Given the description of an element on the screen output the (x, y) to click on. 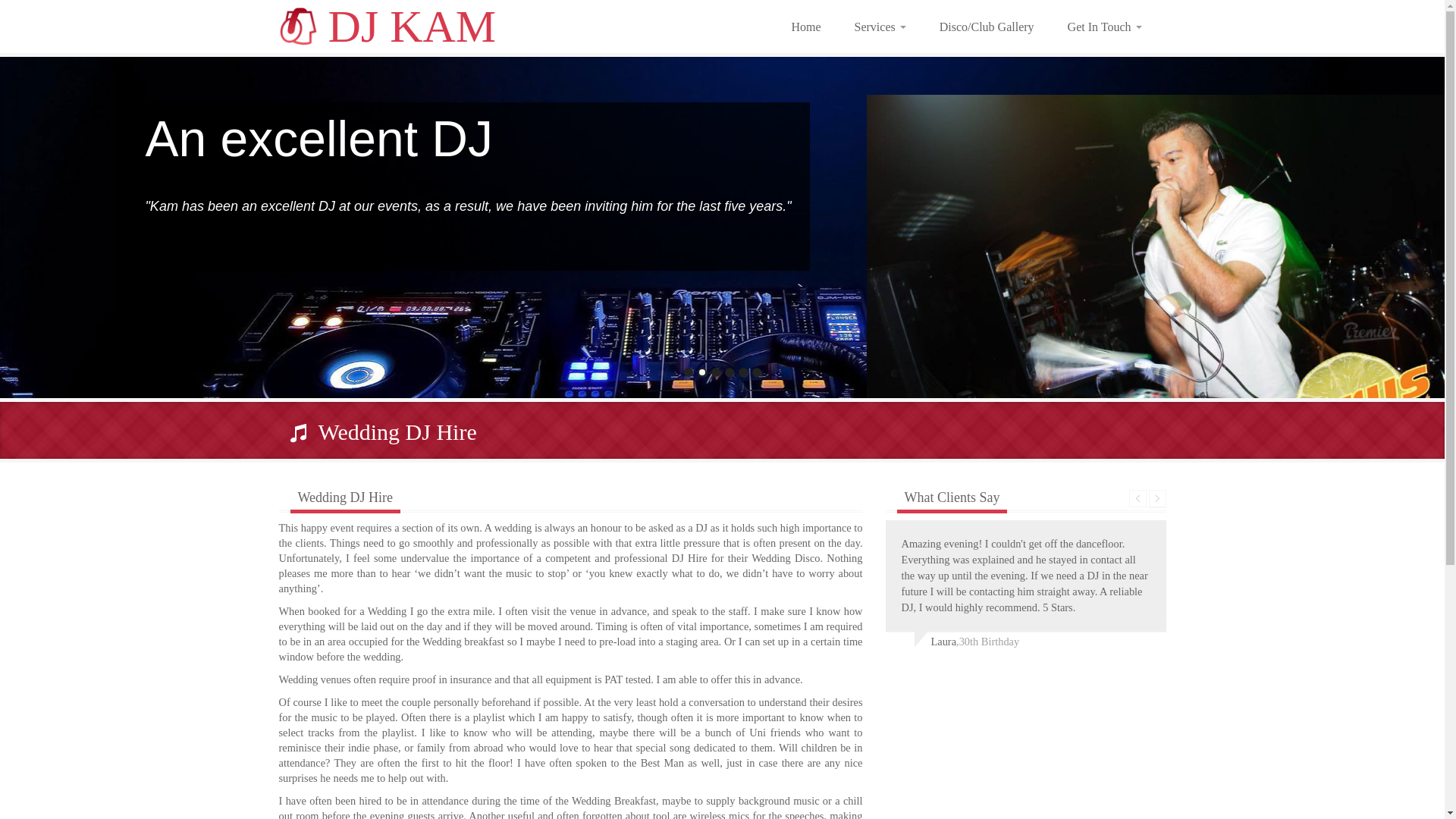
DJ KAM (389, 30)
Get In Touch (1104, 25)
Services (880, 25)
Home (805, 25)
